Given the description of an element on the screen output the (x, y) to click on. 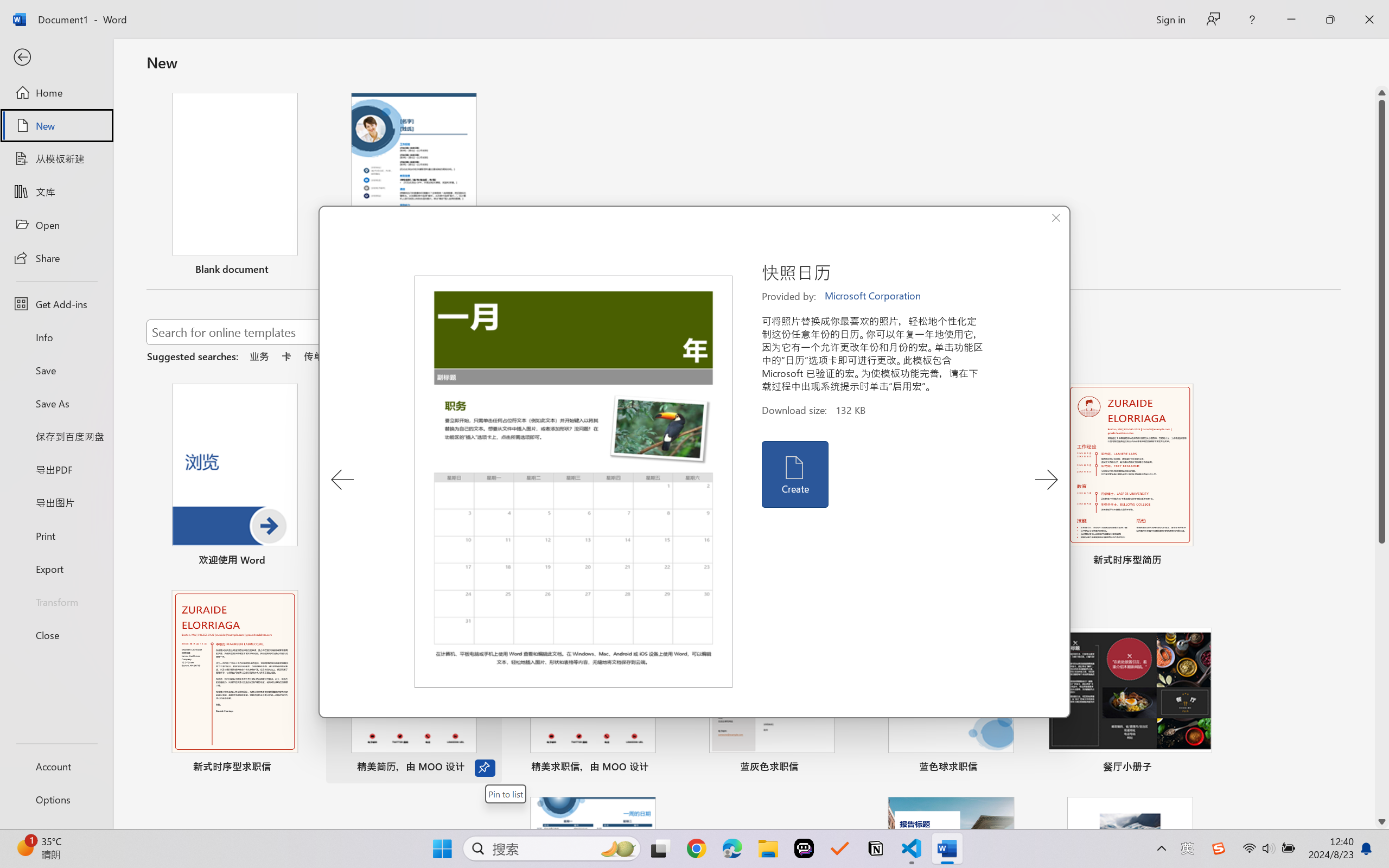
Print (56, 535)
Get Add-ins (56, 303)
Preview (573, 481)
Microsoft Corporation (873, 296)
Options (56, 798)
